Given the description of an element on the screen output the (x, y) to click on. 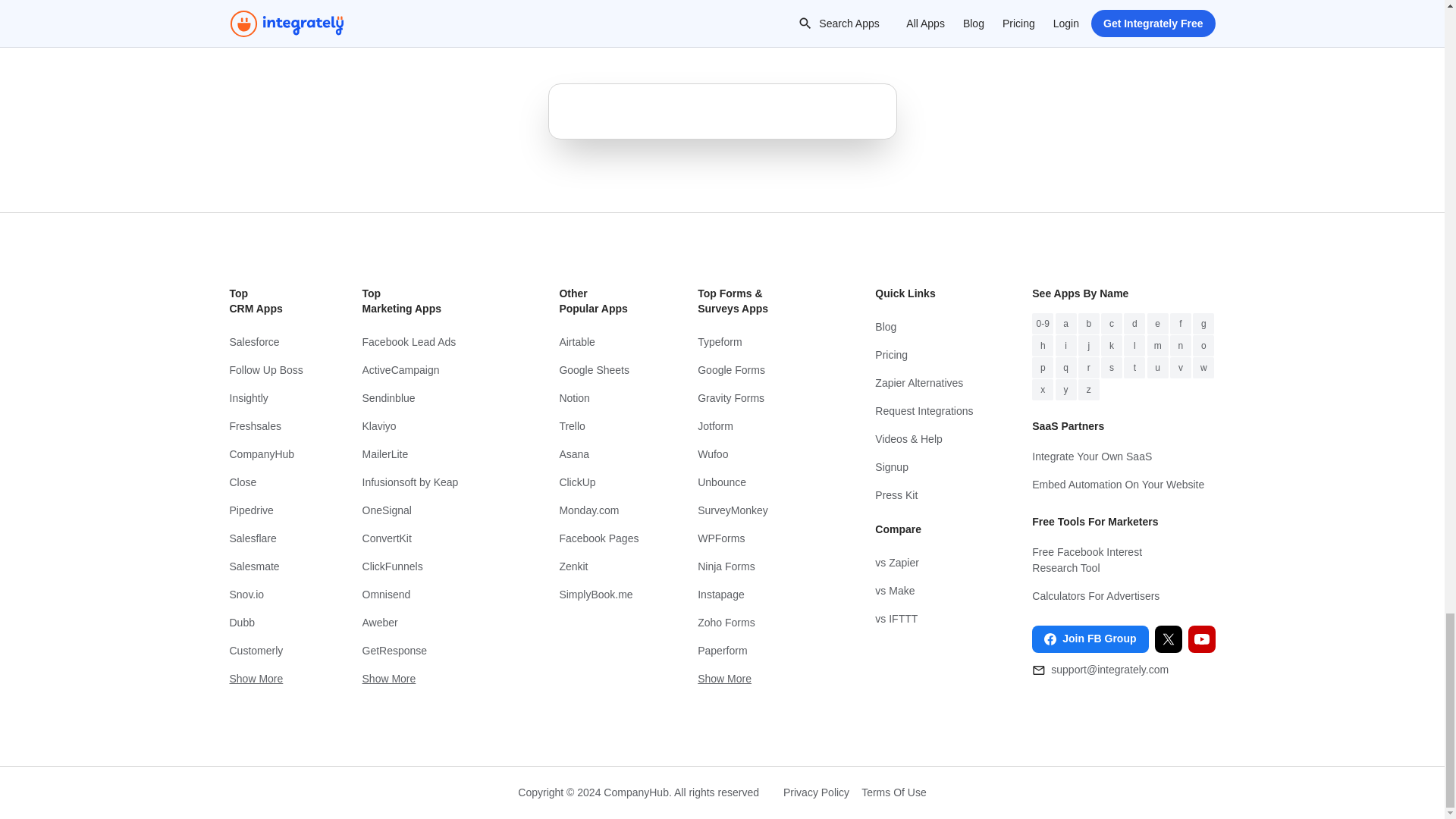
ActiveCampaign (431, 370)
Klaviyo (431, 426)
Sendinblue (431, 398)
Salesflare (265, 538)
GetResponse (431, 651)
Infusionsoft by Keap (431, 482)
Aweber (431, 623)
CompanyHub (265, 454)
Freshsales (265, 426)
Follow Up Boss (265, 370)
OneSignal (431, 510)
ConvertKit (431, 538)
Snov.io (265, 594)
Pipedrive (265, 510)
Close (265, 482)
